Given the description of an element on the screen output the (x, y) to click on. 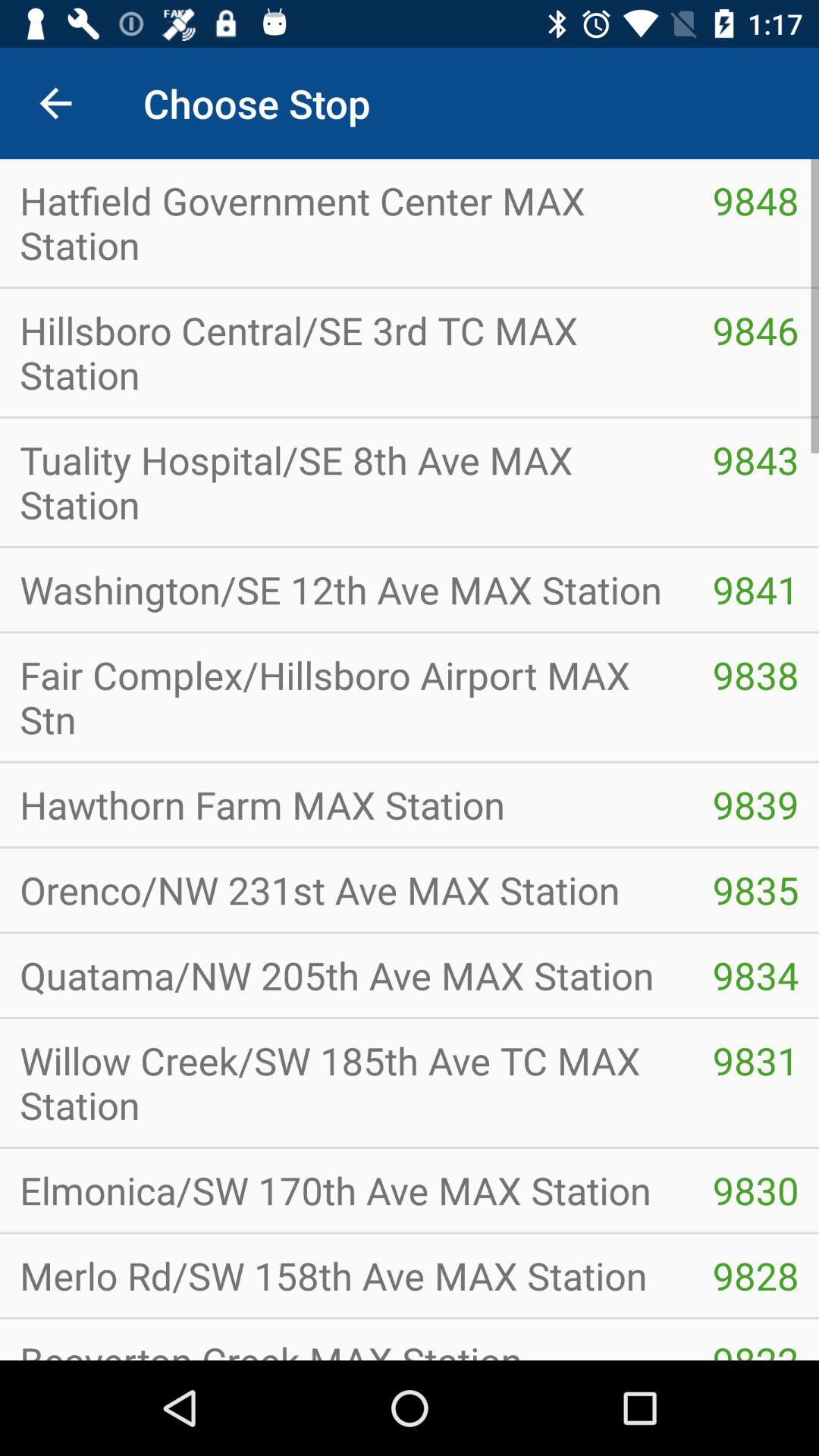
tap the icon to the left of the 9843 item (346, 482)
